Given the description of an element on the screen output the (x, y) to click on. 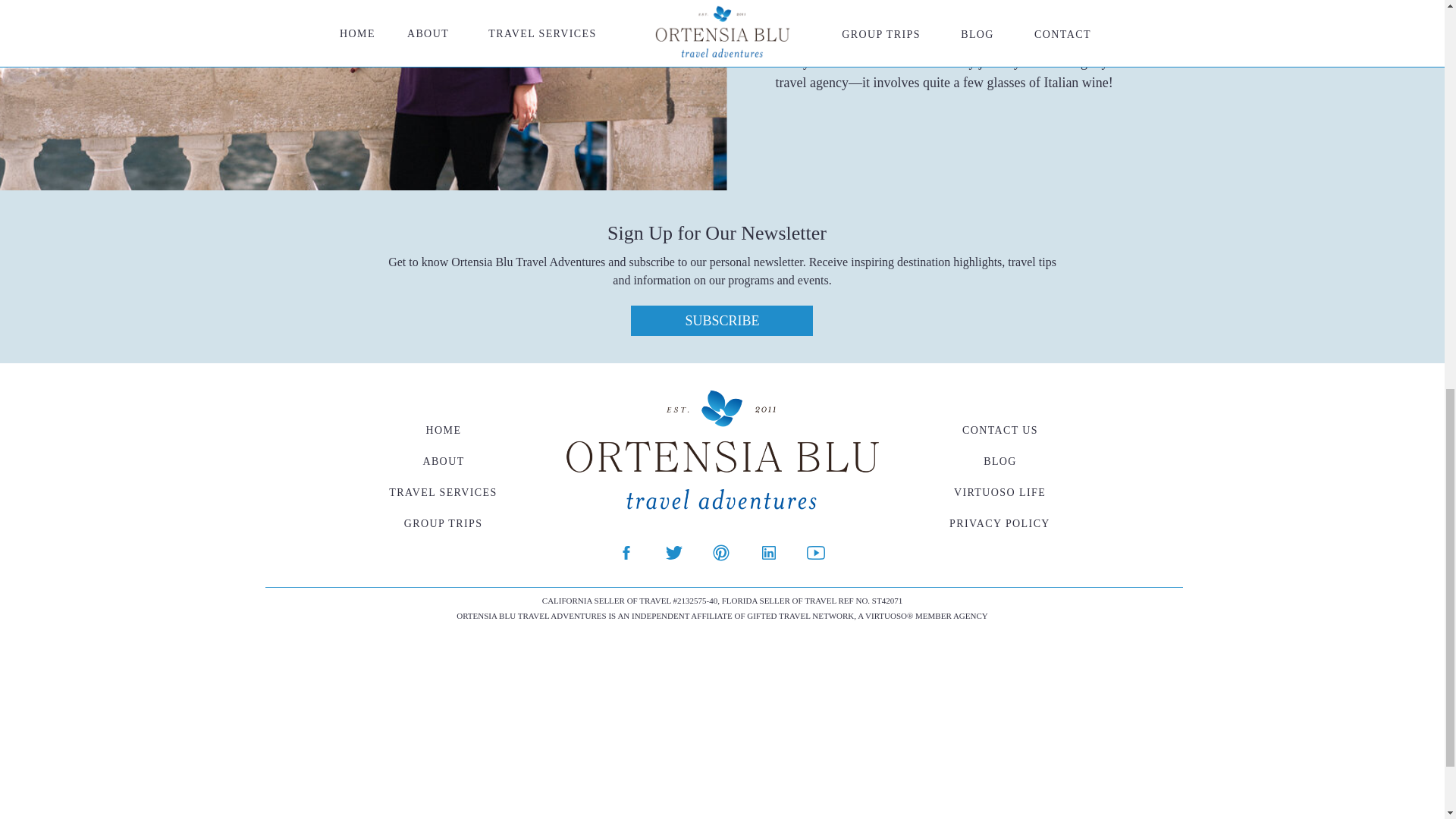
BLOG (999, 460)
CONTACT US (999, 429)
PRIVACY POLICY (999, 522)
SUBSCRIBE (721, 319)
ABOUT (443, 460)
GROUP TRIPS (442, 522)
TRAVEL SERVICES (442, 491)
VIRTUOSO LIFE (999, 491)
HOME (443, 429)
